Given the description of an element on the screen output the (x, y) to click on. 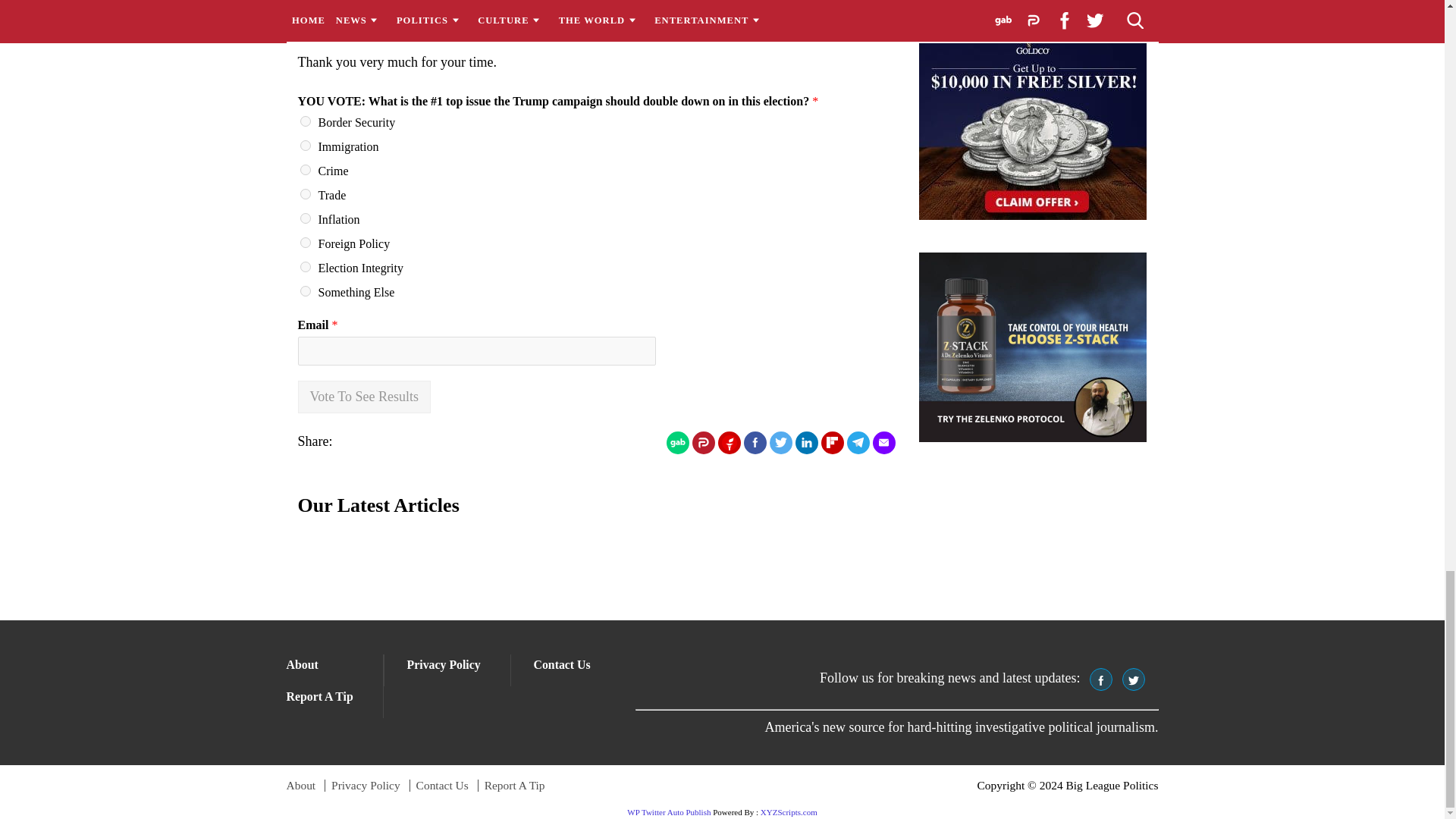
Immigration (305, 145)
Election Integrity  (305, 266)
Foreign Policy  (305, 242)
Trade (305, 194)
Crime (305, 169)
Inflation (305, 217)
Border Security  (305, 121)
WP Twitter Auto Publish (668, 811)
Follow us on Twitter (1133, 679)
Something Else (305, 290)
